Given the description of an element on the screen output the (x, y) to click on. 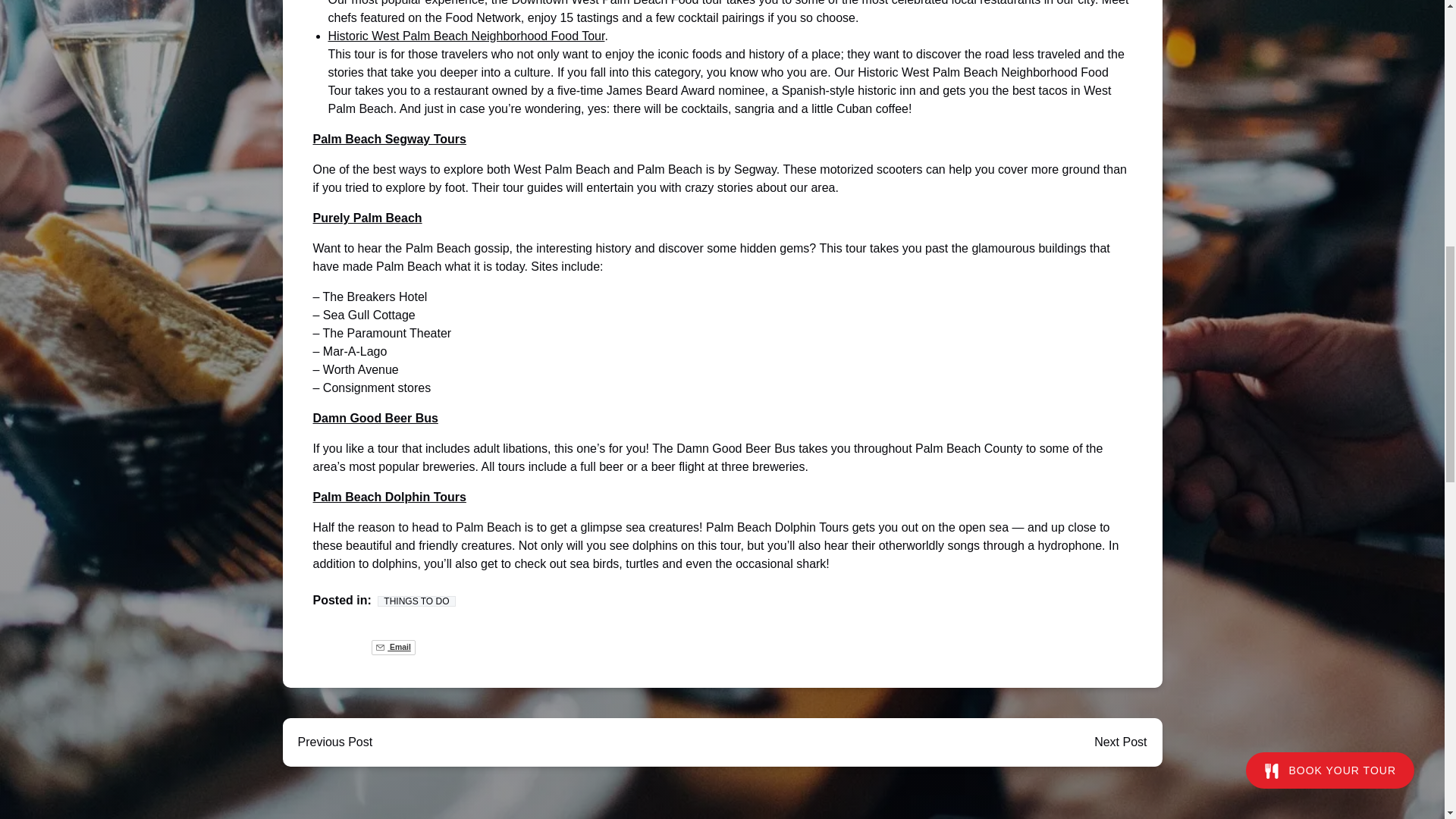
Historic West Palm Beach Neighborhood Food Tour (465, 35)
Palm Beach Segway Tours (389, 138)
Purely Palm Beach (367, 217)
Damn Good Beer Bus (375, 418)
